Given the description of an element on the screen output the (x, y) to click on. 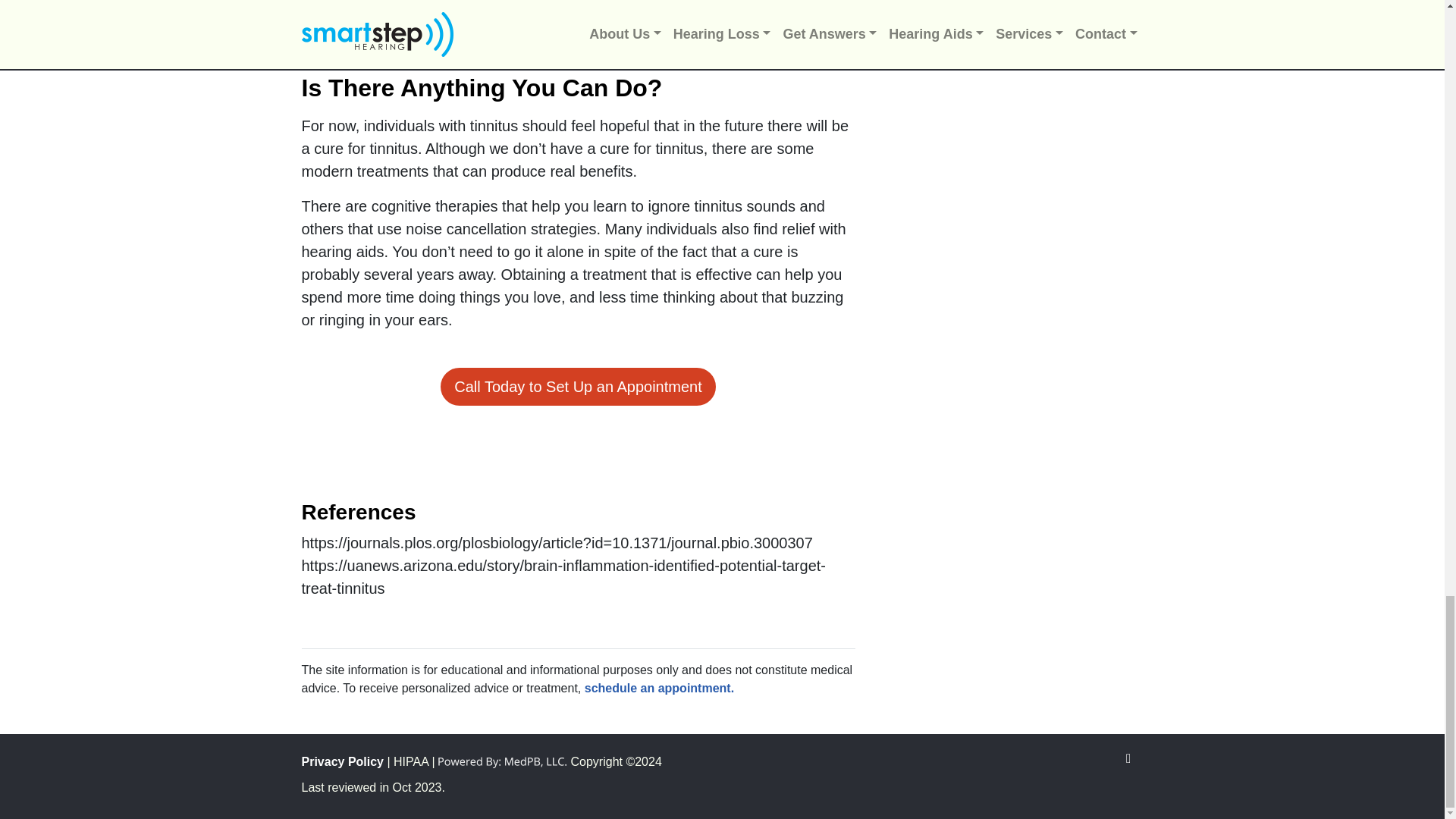
MedPB: Medical Practice Building, Marketing, Websites (502, 761)
